Given the description of an element on the screen output the (x, y) to click on. 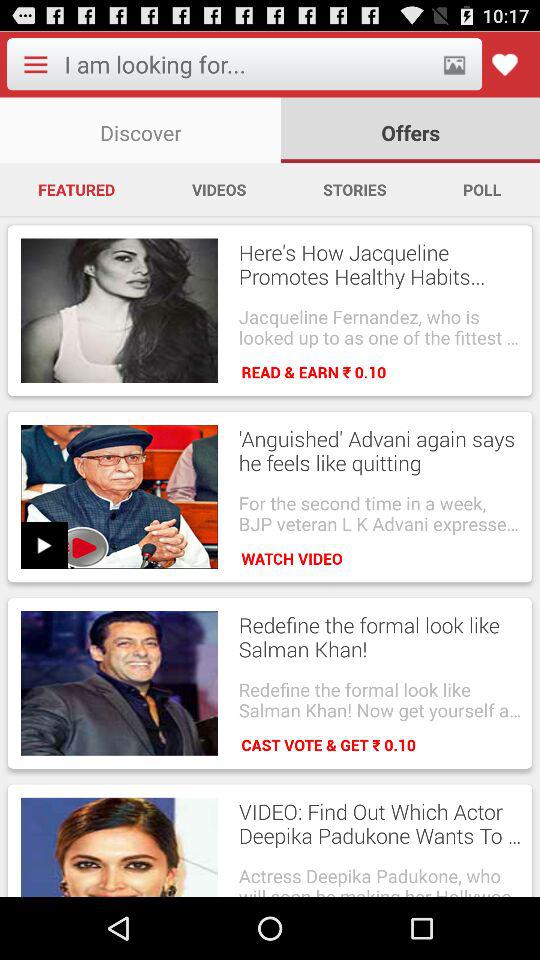
toggle menu options (35, 64)
